Given the description of an element on the screen output the (x, y) to click on. 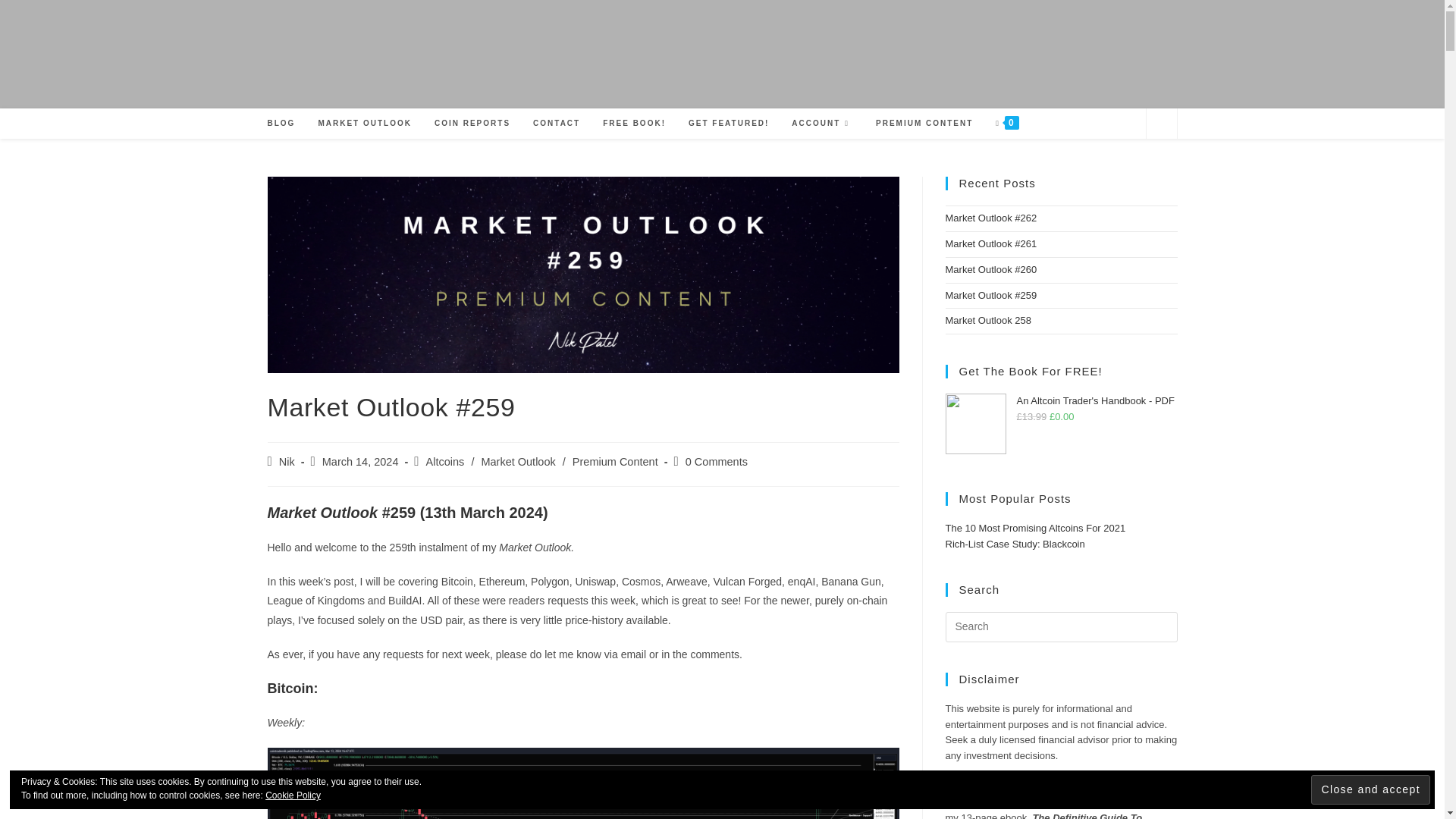
BLOG (281, 123)
Posts by Nik (287, 461)
COIN REPORTS (472, 123)
Premium Content (615, 461)
Altcoins (445, 461)
PREMIUM CONTENT (924, 123)
ACCOUNT (822, 123)
An Altcoin Trader's Blog (722, 54)
Close and accept (1370, 789)
GET FEATURED! (728, 123)
MARKET OUTLOOK (364, 123)
FREE BOOK! (634, 123)
Market Outlook (517, 461)
CONTACT (556, 123)
0 Comments (716, 461)
